Given the description of an element on the screen output the (x, y) to click on. 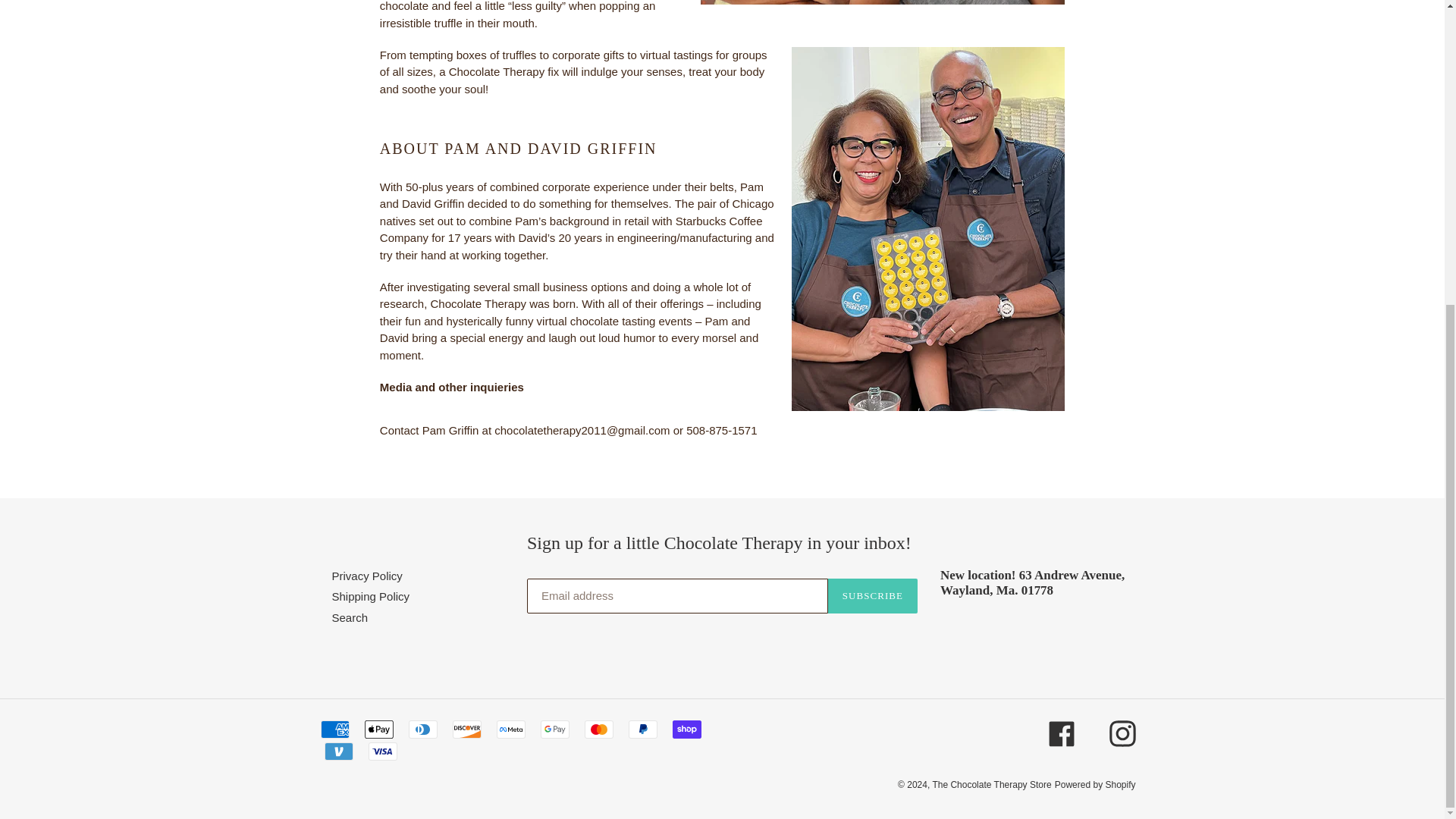
Privacy Policy (367, 575)
Search (349, 617)
Shipping Policy (370, 595)
The Chocolate Therapy Store (991, 784)
SUBSCRIBE (872, 595)
Instagram (1121, 733)
Facebook (1061, 733)
Powered by Shopify (1094, 784)
